Given the description of an element on the screen output the (x, y) to click on. 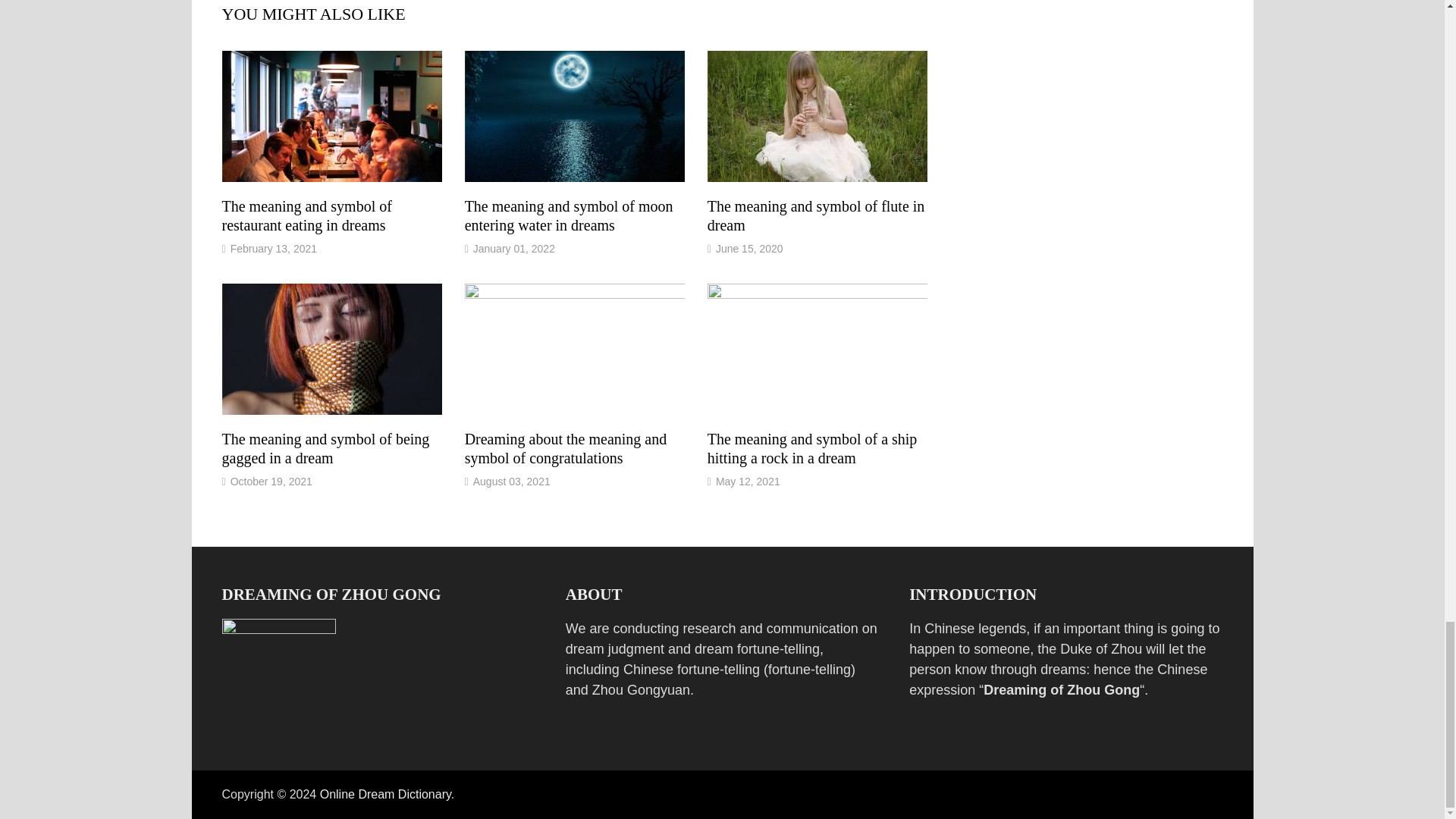
The meaning and symbol of flute in dream (815, 215)
The meaning and symbol of restaurant eating in dreams (306, 215)
October 19, 2021 (271, 481)
January 01, 2022 (513, 248)
The meaning and symbol of a ship hitting a rock in a dream (812, 448)
The meaning and symbol of being gagged in a dream (325, 448)
The meaning and symbol of moon entering water in dreams (568, 215)
August 03, 2021 (511, 481)
The meaning and symbol of flute in dream (815, 215)
Online Dream Dictionary (385, 793)
June 15, 2020 (749, 248)
February 13, 2021 (273, 248)
Dreaming about the meaning and symbol of congratulations (565, 448)
The meaning and symbol of a ship hitting a rock in a dream (812, 448)
Dreaming about the meaning and symbol of congratulations (565, 448)
